Given the description of an element on the screen output the (x, y) to click on. 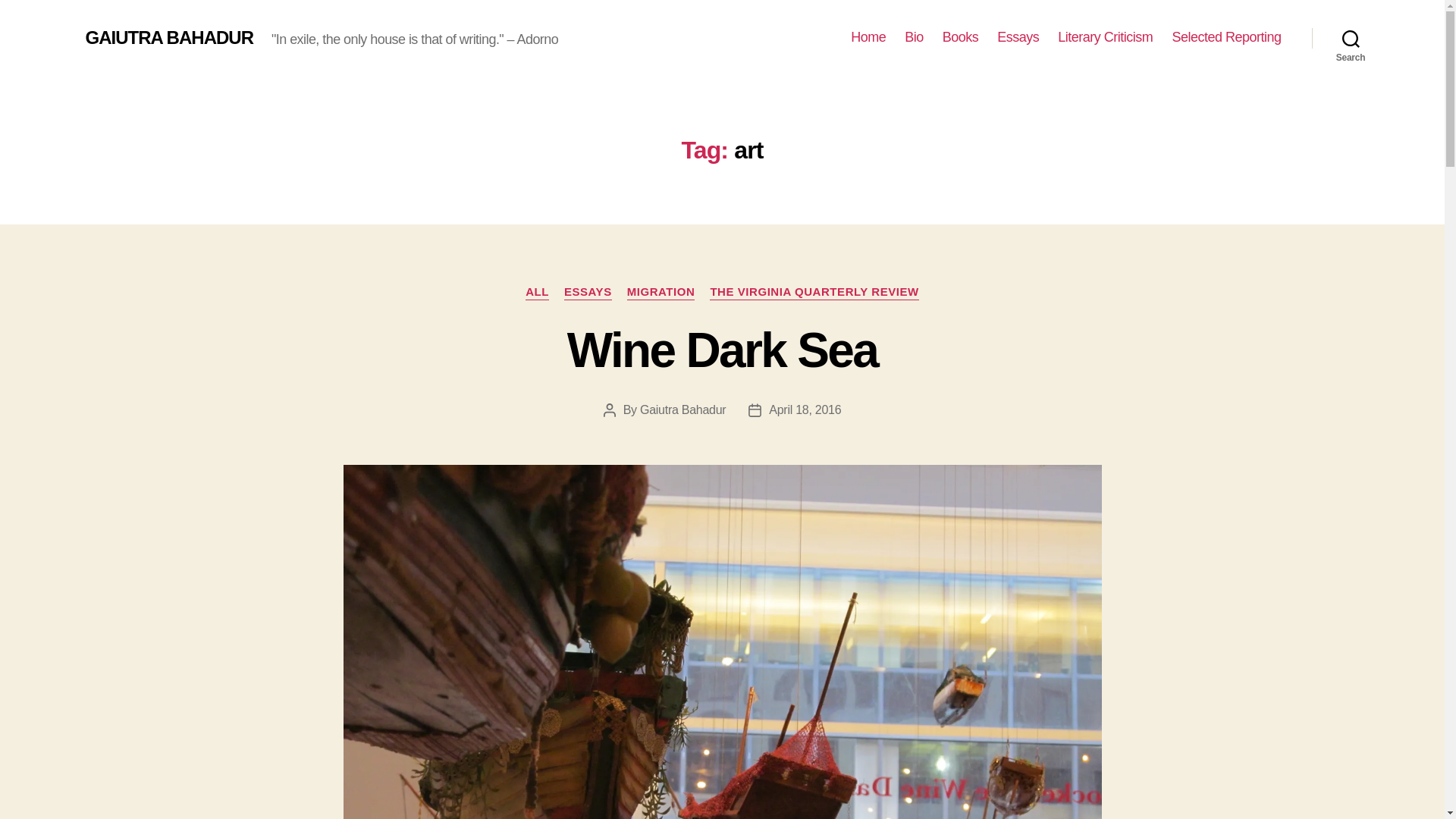
Home (867, 37)
GAIUTRA BAHADUR (167, 37)
Search (1350, 37)
MIGRATION (661, 292)
Essays (1018, 37)
Literary Criticism (1105, 37)
Books (960, 37)
Selected Reporting (1226, 37)
ALL (536, 292)
Bio (913, 37)
